Given the description of an element on the screen output the (x, y) to click on. 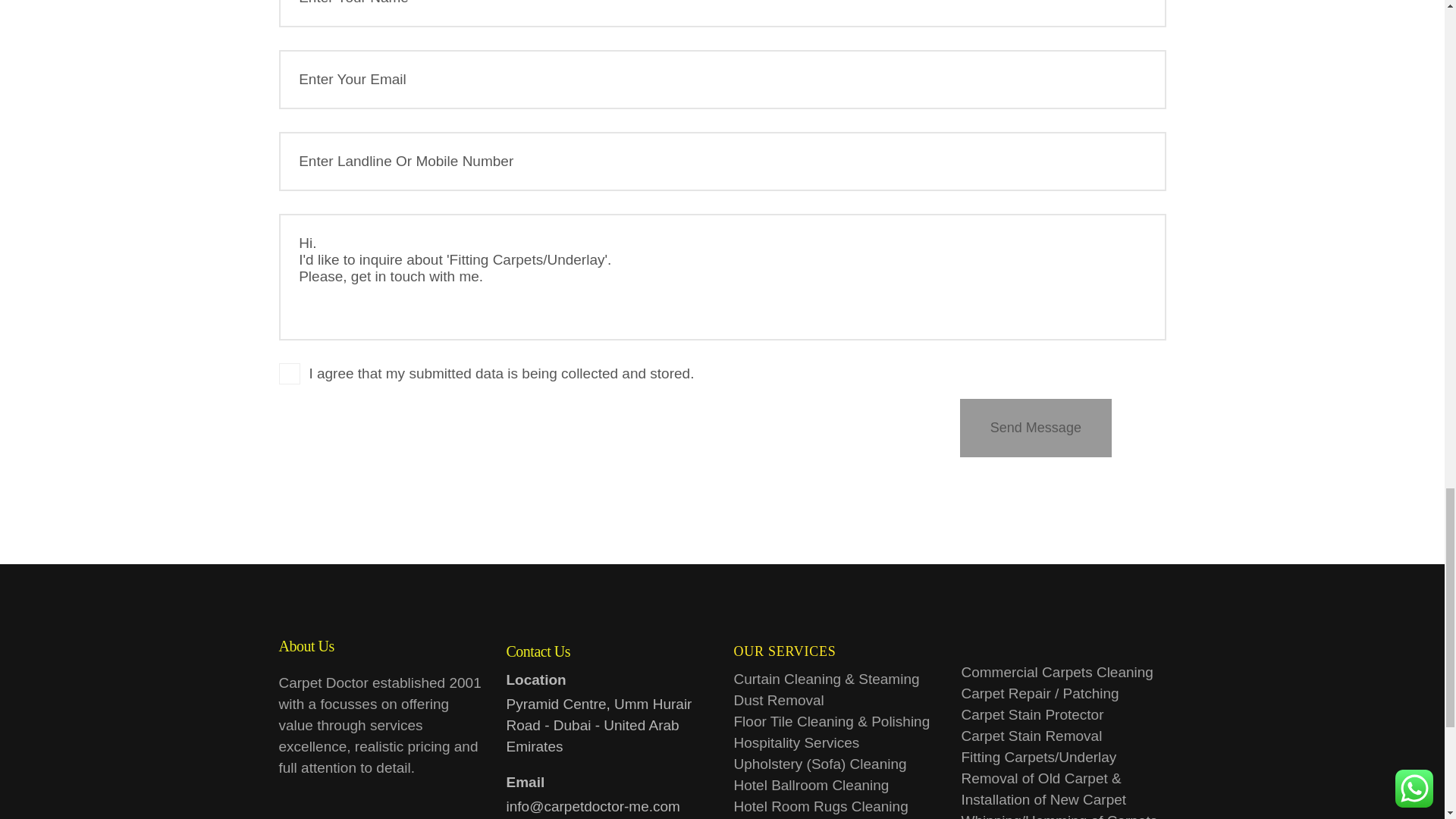
Send Message (1034, 427)
